Given the description of an element on the screen output the (x, y) to click on. 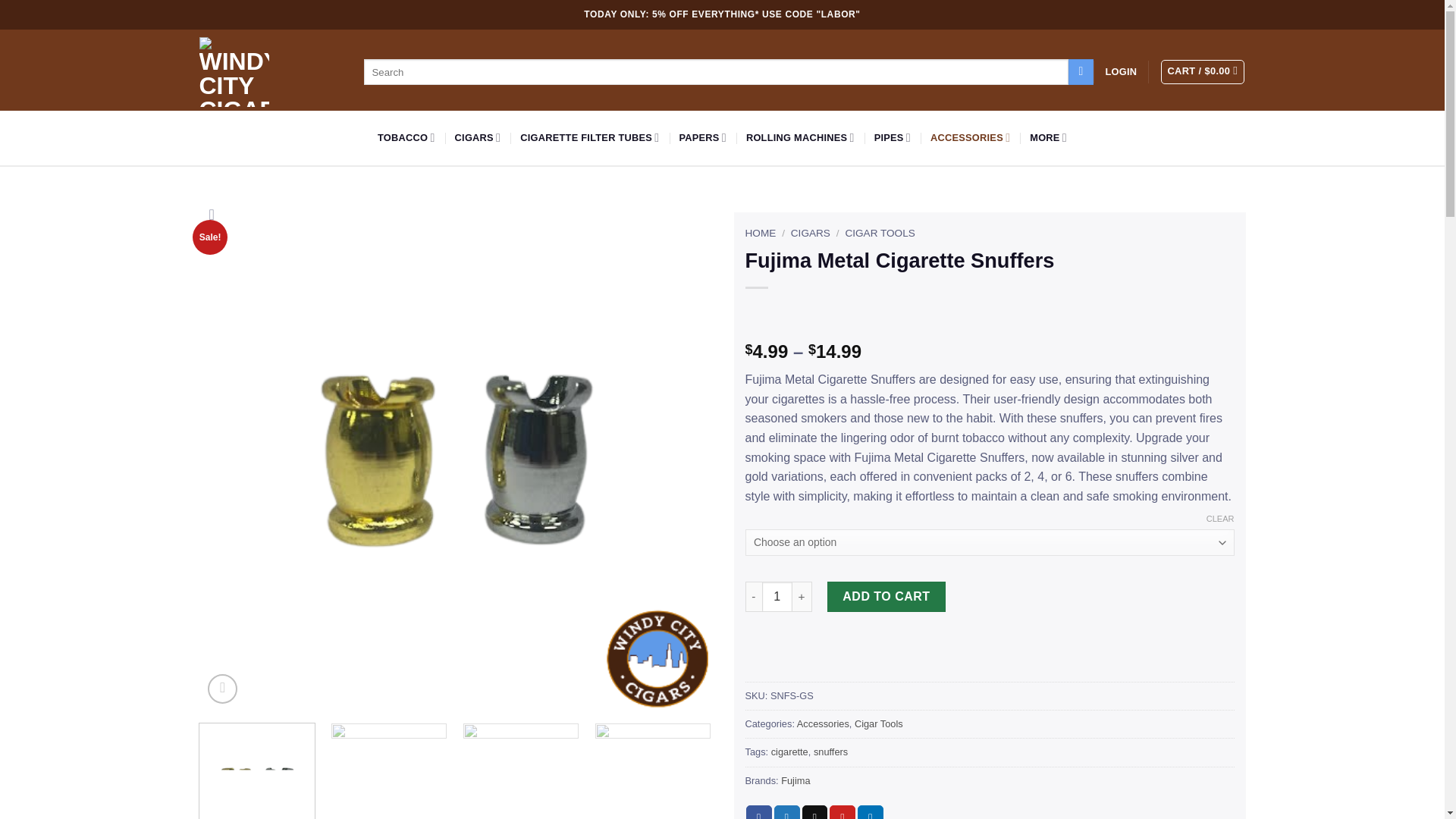
Zoom (222, 688)
Share on Twitter (786, 812)
Share on LinkedIn (870, 812)
TOBACCO (406, 137)
Email to a Friend (815, 812)
Pin on Pinterest (842, 812)
Windy City Cigars (232, 71)
Cart (1202, 71)
1 (776, 596)
Share on Facebook (758, 812)
